Given the description of an element on the screen output the (x, y) to click on. 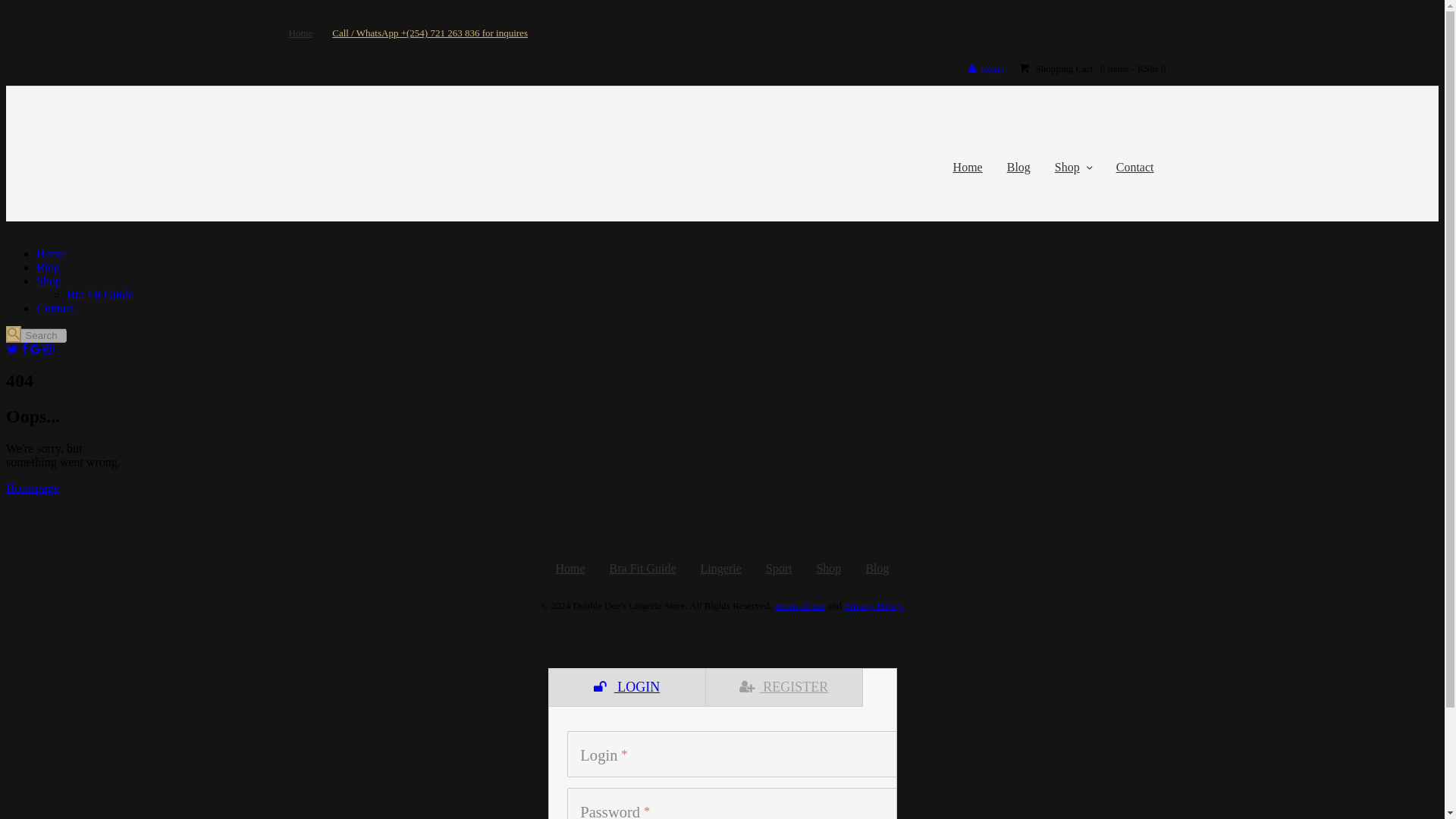
Blog (47, 267)
Contact (55, 308)
Home (569, 568)
REGISTER (782, 687)
Blog (1018, 167)
Home (50, 253)
Lingerie (721, 568)
Contact (1134, 167)
Shop (828, 568)
LOGIN (626, 687)
